Given the description of an element on the screen output the (x, y) to click on. 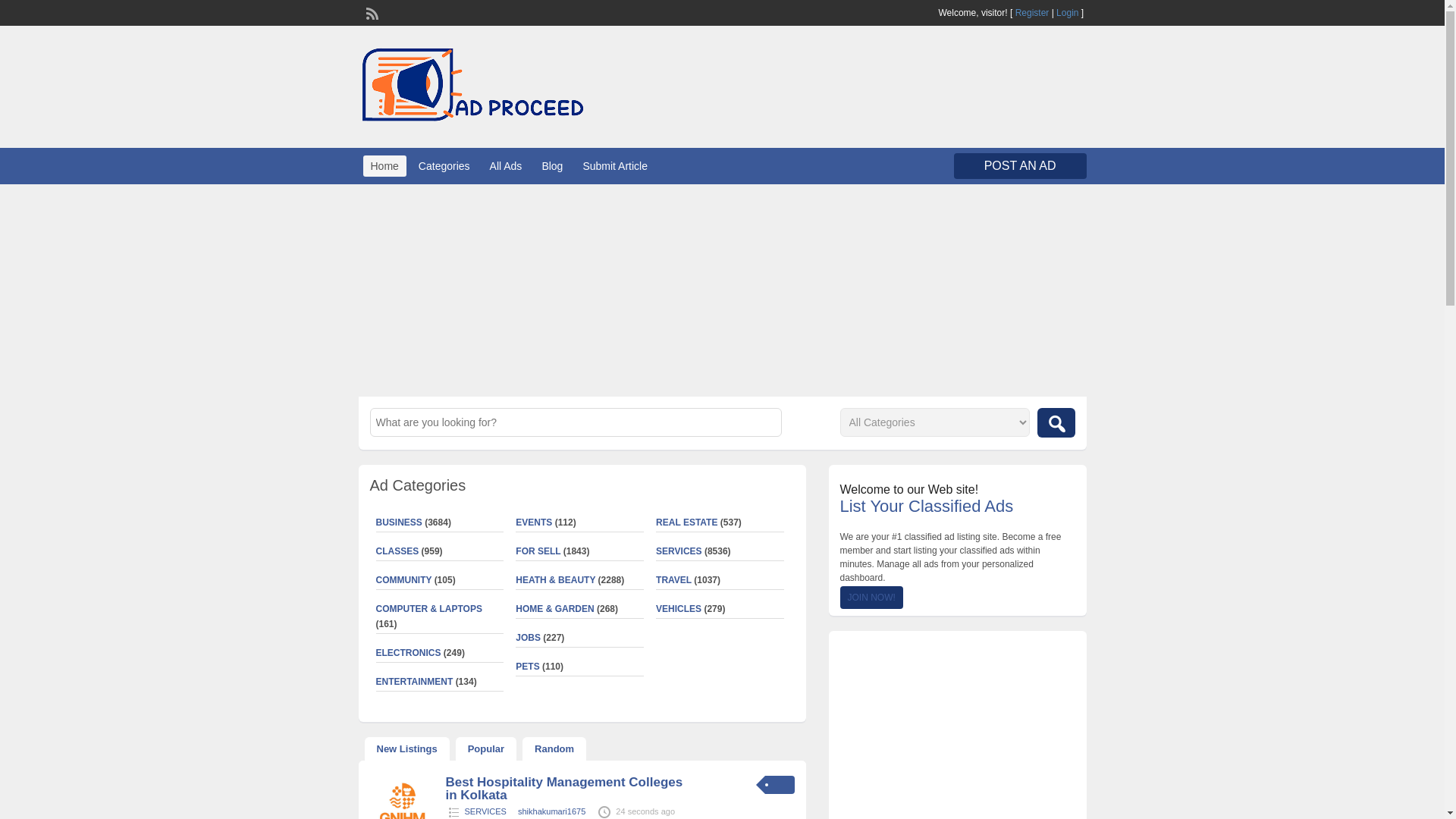
CLASSES (397, 551)
search (1055, 422)
JOBS (527, 637)
Submit Article (615, 165)
ENTERTAINMENT (413, 681)
BUSINESS (398, 521)
EVENTS (533, 521)
FOR SELL (537, 551)
All Ads (505, 165)
ELECTRONICS (408, 652)
Register (1031, 12)
PETS (526, 665)
RSS Feed (369, 11)
Home (384, 165)
Login (1067, 12)
